Given the description of an element on the screen output the (x, y) to click on. 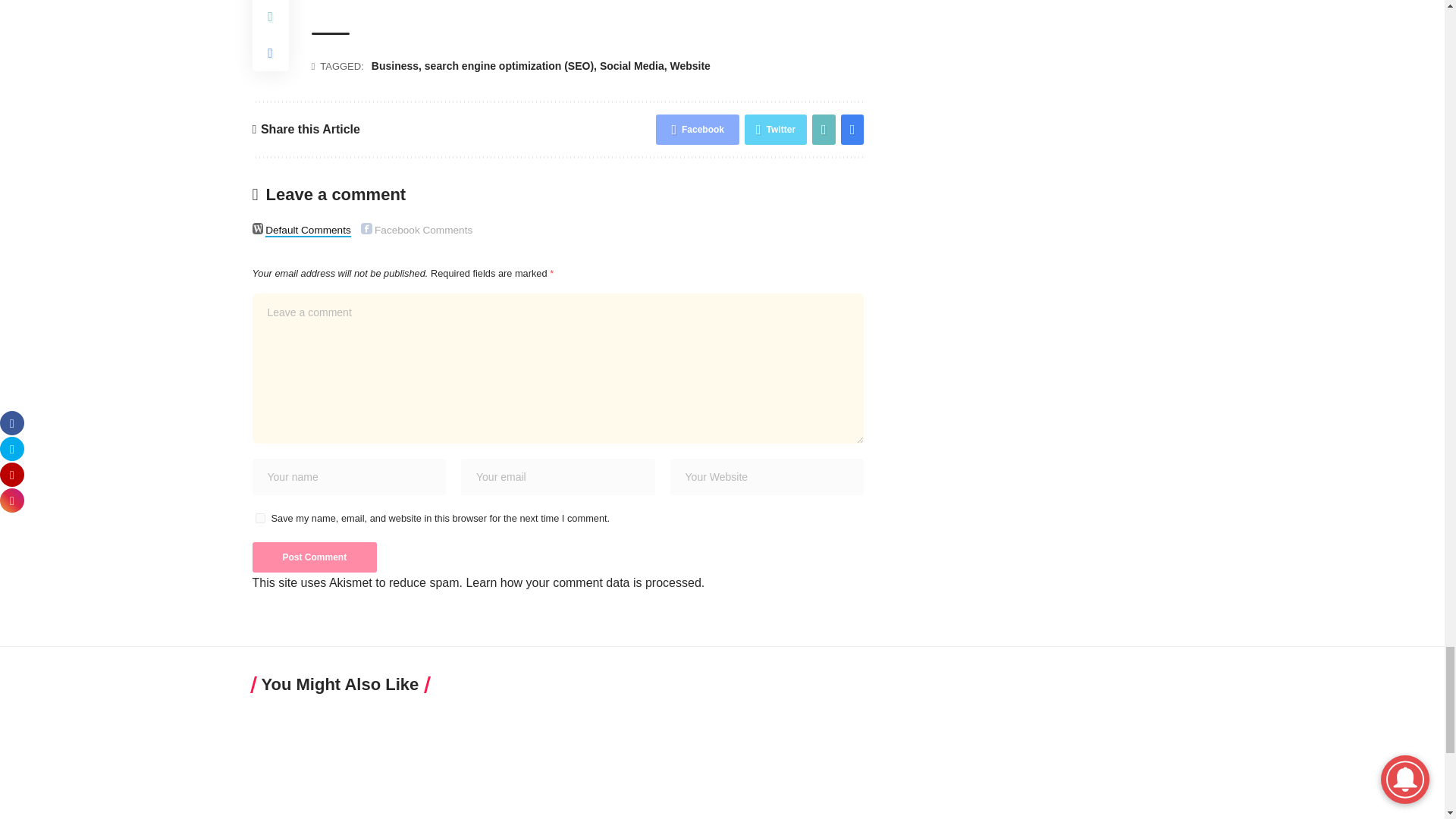
yes (259, 518)
Exploring the Best Classic Literature of All Time (363, 763)
Post Comment (314, 557)
Default Comments (257, 228)
Facebook Comments (366, 228)
